Given the description of an element on the screen output the (x, y) to click on. 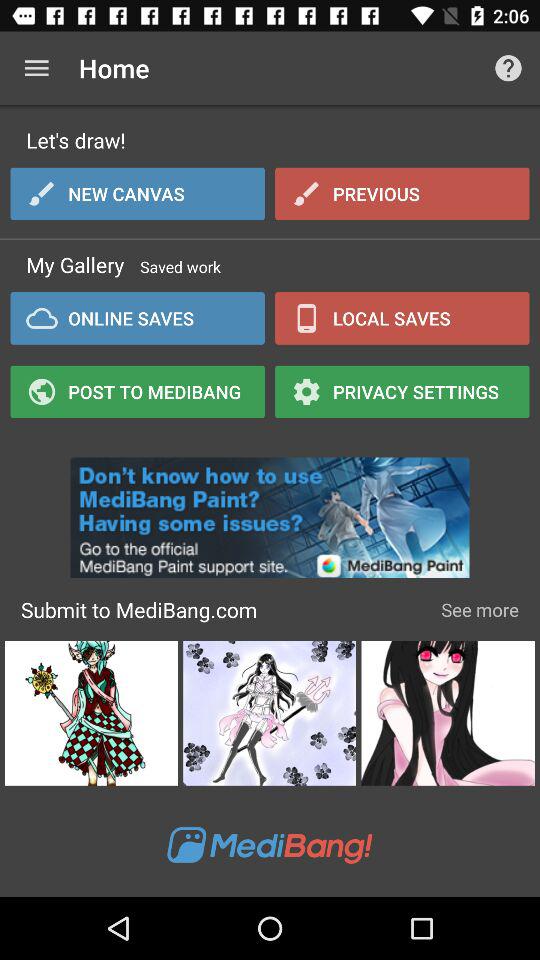
select project option three (447, 713)
